Given the description of an element on the screen output the (x, y) to click on. 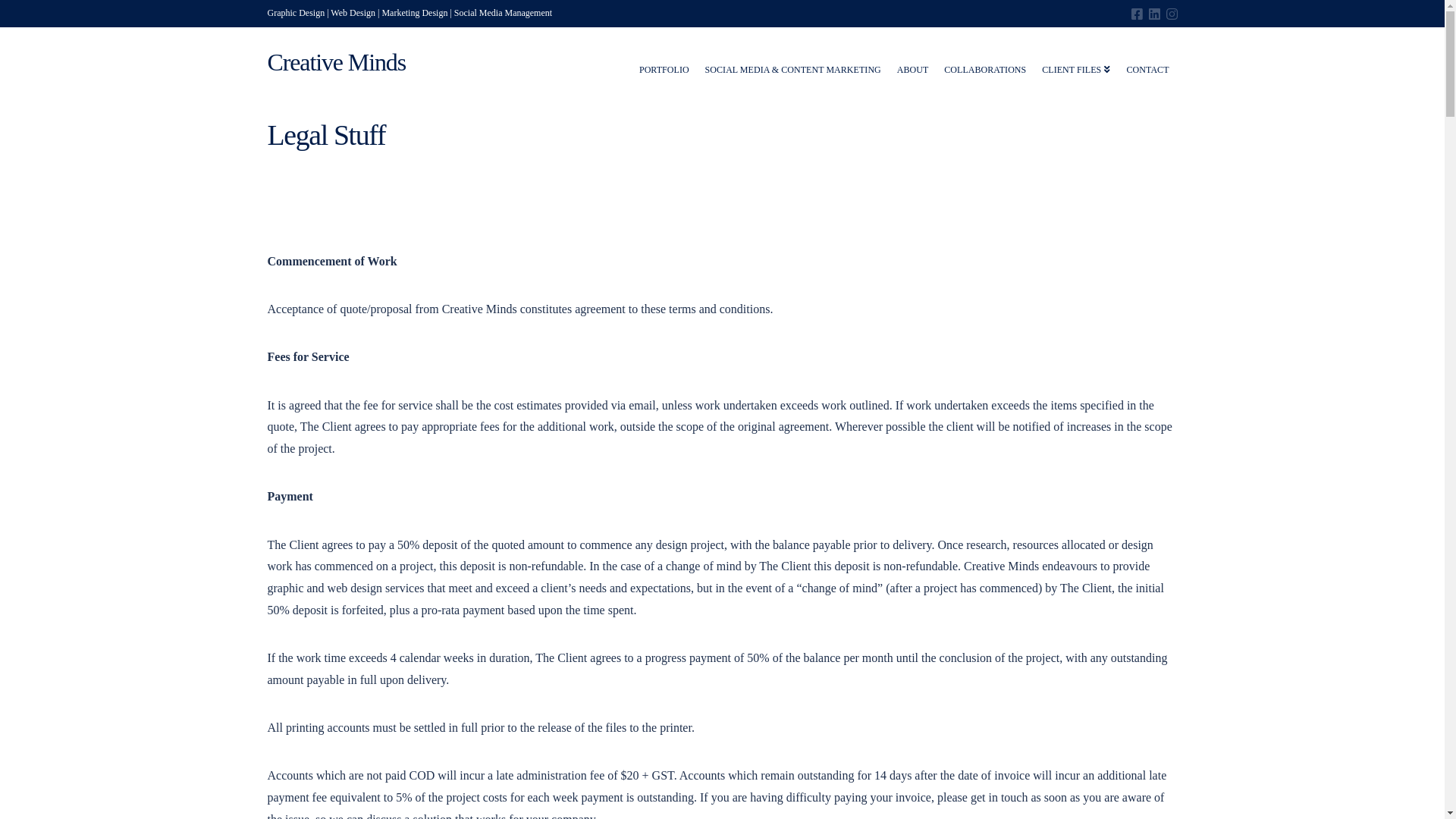
SOCIAL MEDIA & CONTENT MARKETING Element type: text (793, 61)
COLLABORATIONS Element type: text (985, 61)
CLIENT FILES Element type: text (1076, 61)
Facebook Element type: hover (1136, 13)
PORTFOLIO Element type: text (663, 61)
CONTACT Element type: text (1148, 61)
Creative Minds Element type: text (335, 62)
Instagram Element type: hover (1171, 13)
LinkedIn Element type: hover (1153, 13)
ABOUT Element type: text (913, 61)
